Given the description of an element on the screen output the (x, y) to click on. 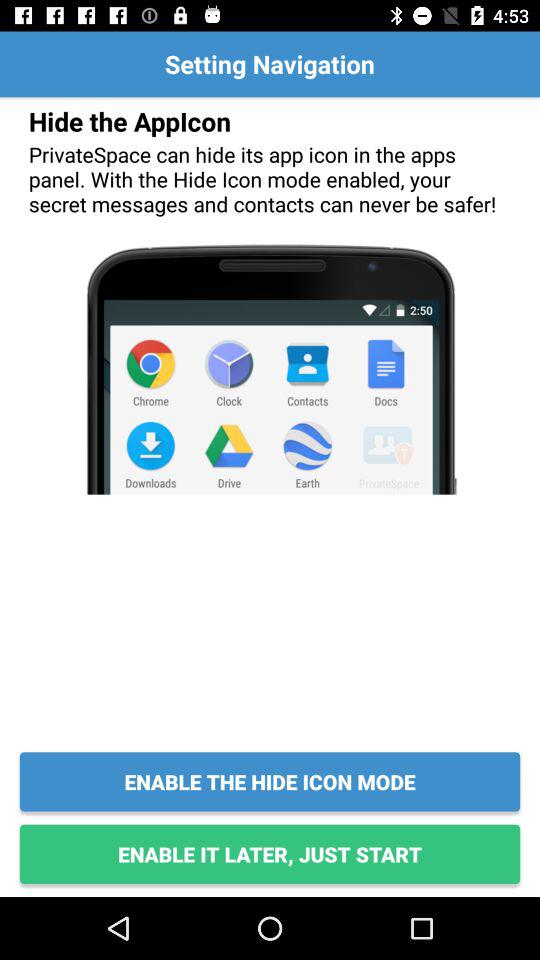
jump to the enable it later icon (269, 853)
